Given the description of an element on the screen output the (x, y) to click on. 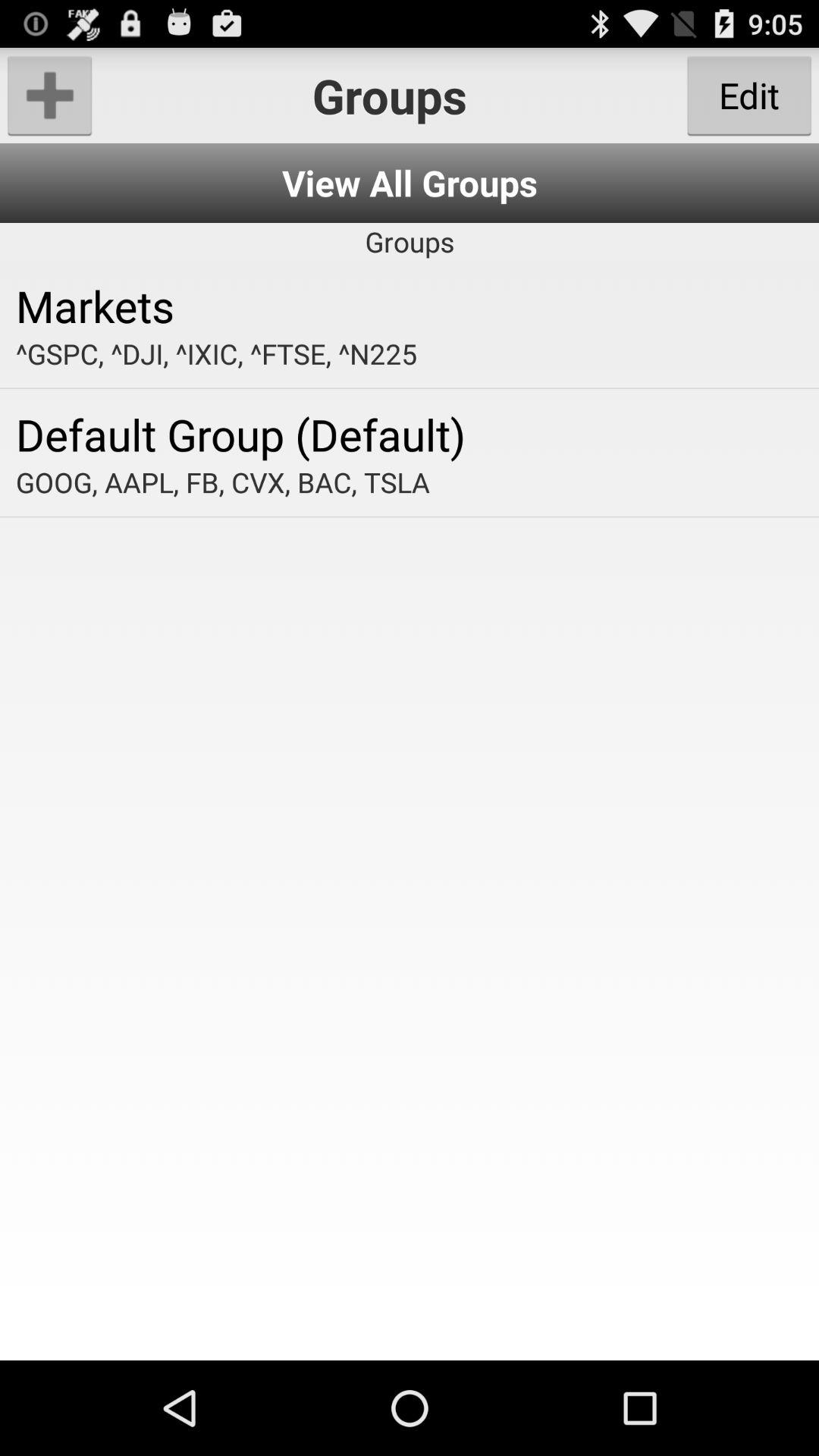
jump until the default group (default) app (409, 433)
